Given the description of an element on the screen output the (x, y) to click on. 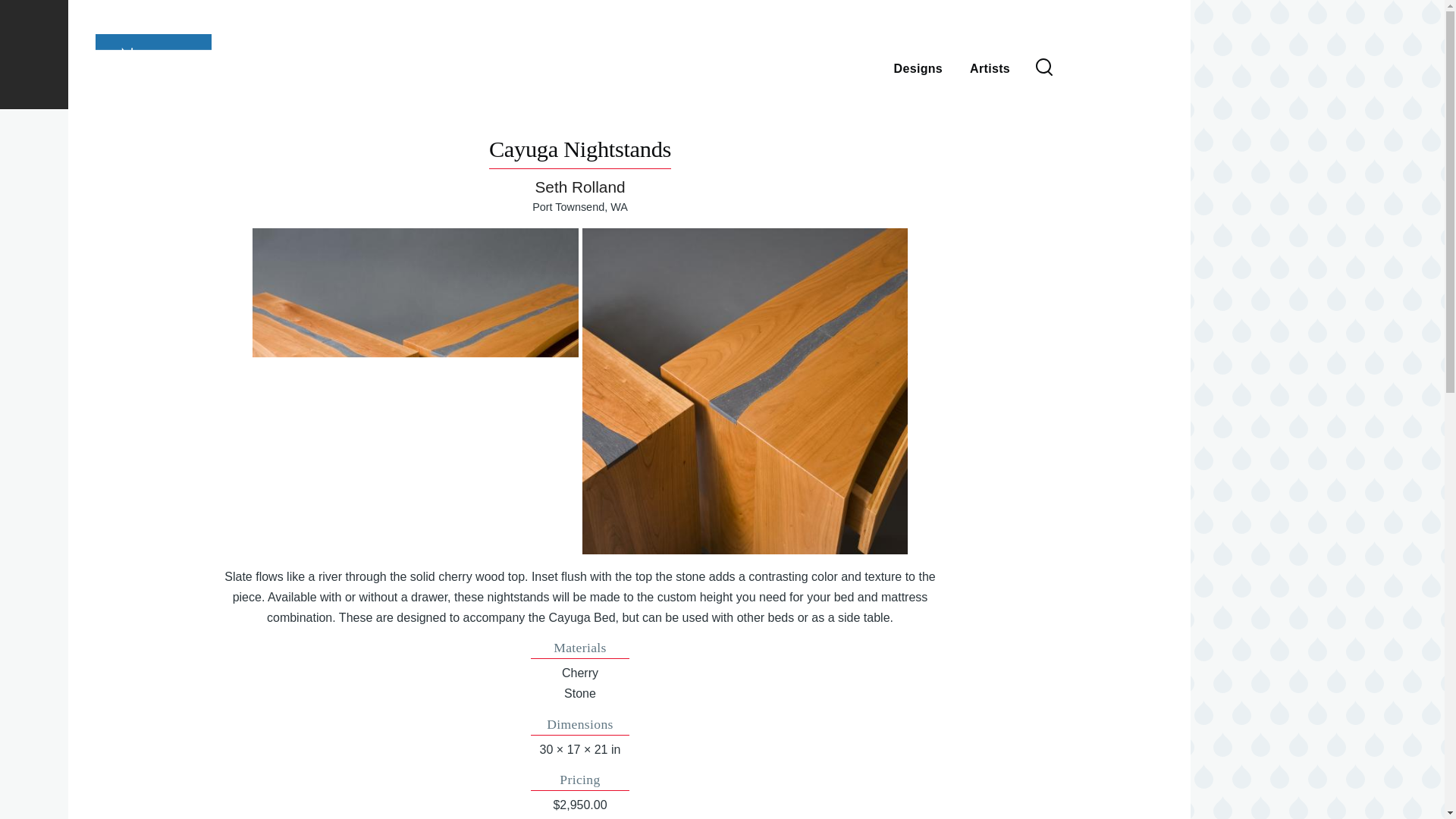
Skip to main content (595, 6)
Search (953, 163)
Seth Rolland (579, 186)
Cayuga Nightstands (414, 390)
Artists (989, 67)
A list of the types of furniture we make (917, 67)
Cayuga Nightstands (744, 390)
A list of our member furniture makers (989, 67)
Designs (917, 67)
